Given the description of an element on the screen output the (x, y) to click on. 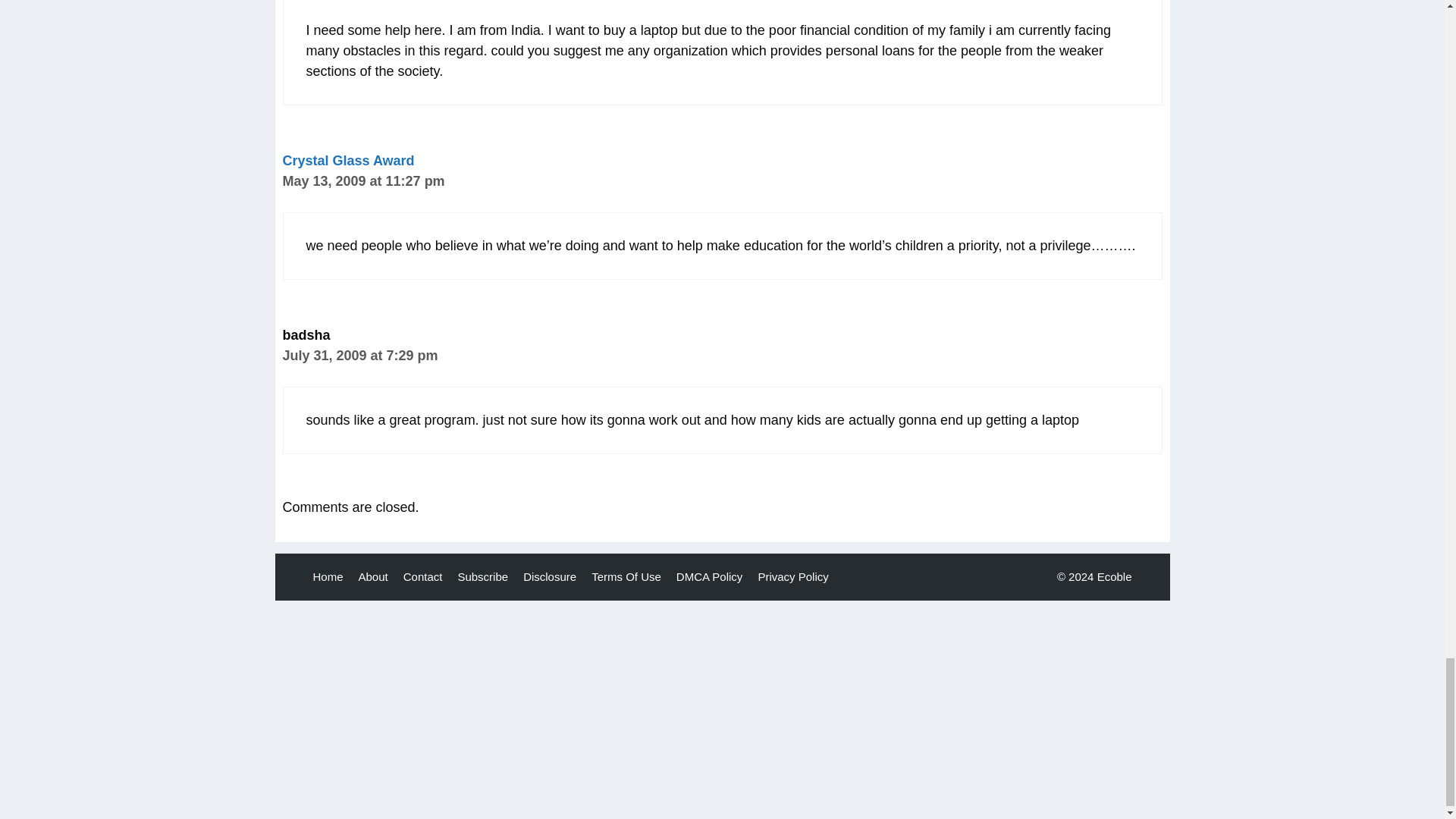
Terms Of Use (626, 576)
About (373, 576)
Home (327, 576)
Privacy Policy (792, 576)
July 31, 2009 at 7:29 pm (360, 355)
Subscribe (482, 576)
May 13, 2009 at 11:27 pm (363, 181)
Disclosure (549, 576)
Contact (422, 576)
Crystal Glass Award (347, 160)
DMCA Policy (709, 576)
